Given the description of an element on the screen output the (x, y) to click on. 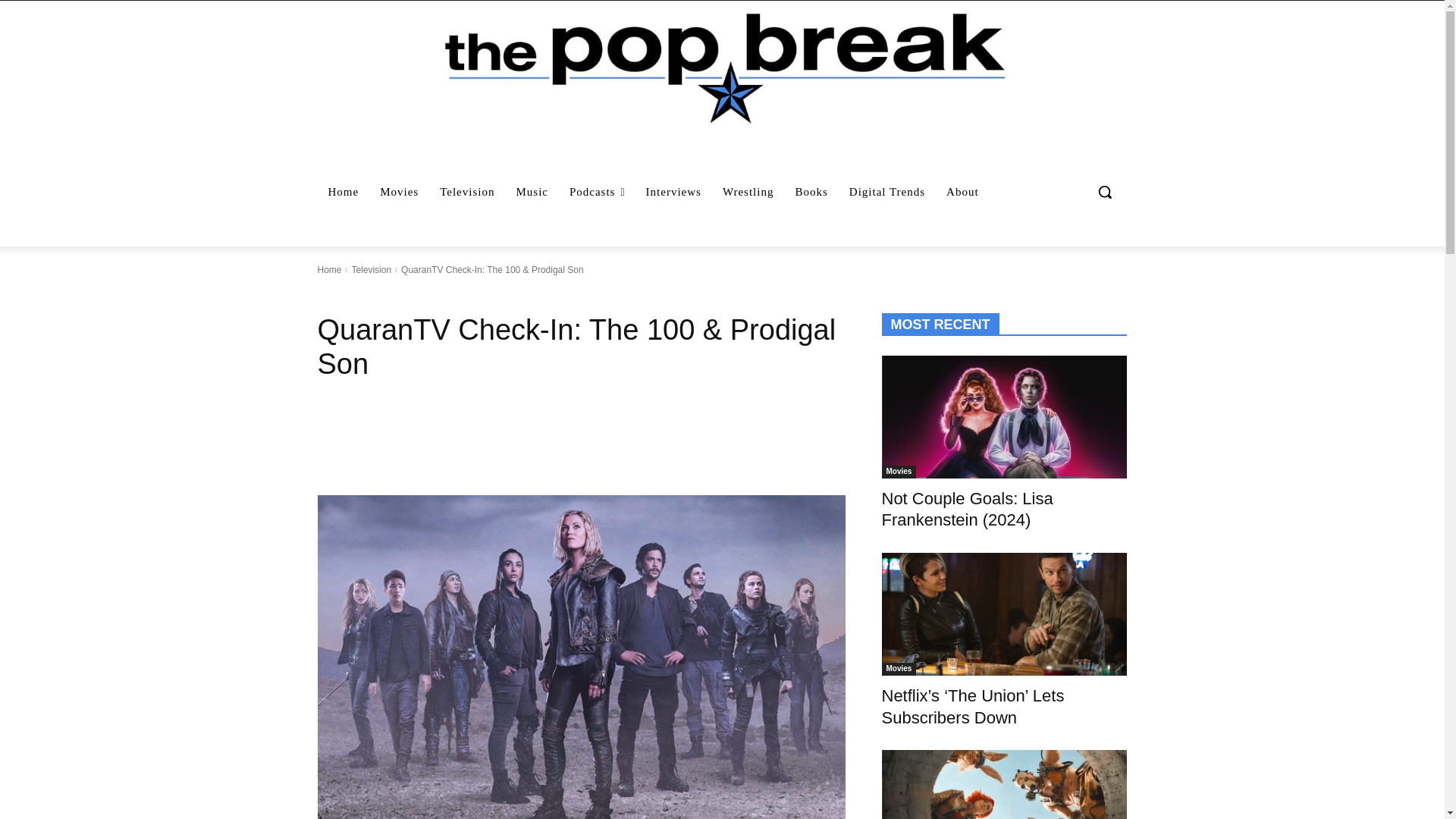
Wrestling (747, 191)
Movies (399, 191)
Home (343, 191)
Digital Trends (887, 191)
Music (532, 191)
Interviews (672, 191)
Television (370, 269)
About (963, 191)
Books (811, 191)
View all posts in Television (370, 269)
